Given the description of an element on the screen output the (x, y) to click on. 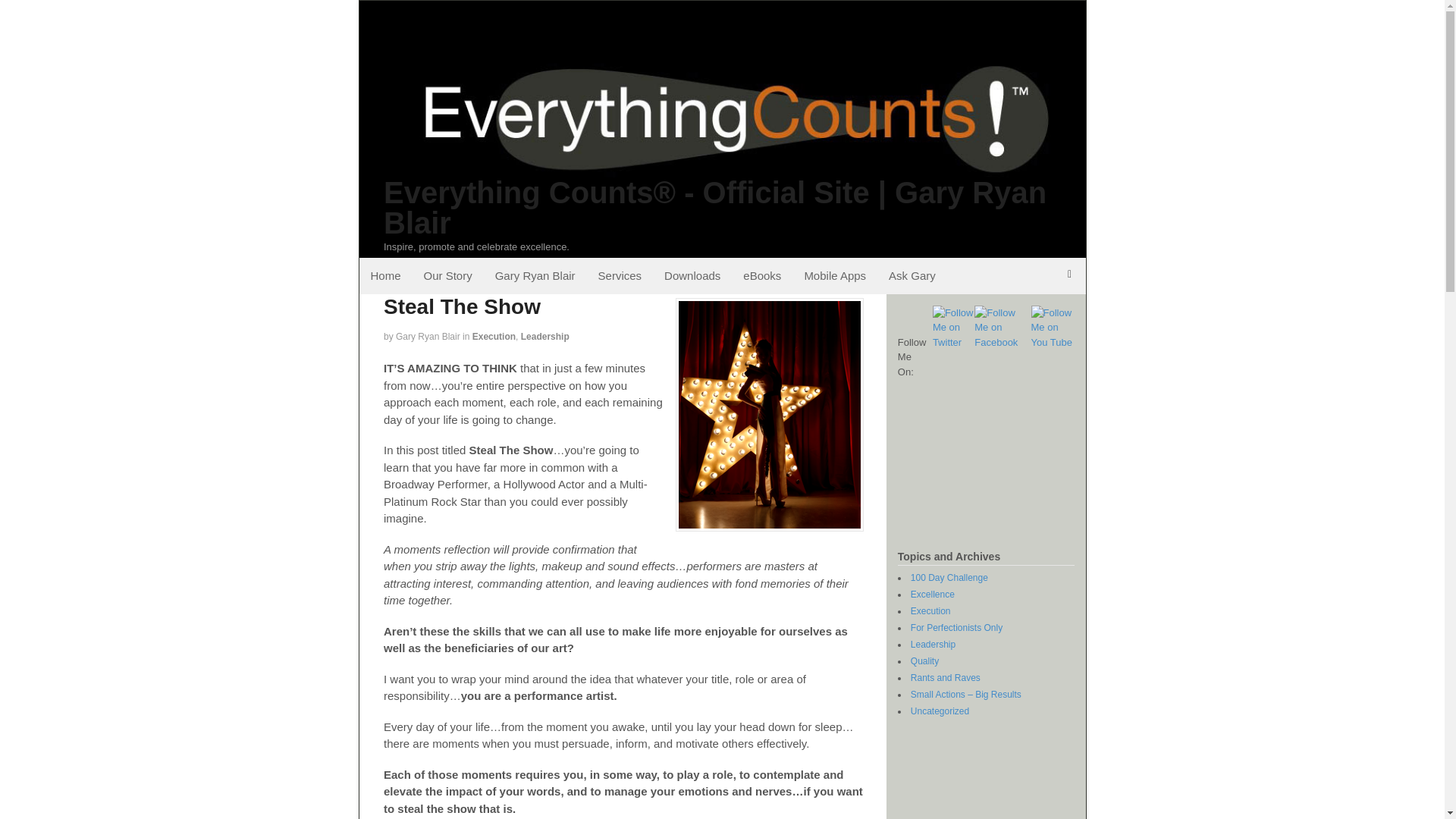
Leadership (545, 336)
For Perfectionists Only (957, 627)
Services (619, 275)
Rants and Raves (945, 677)
Uncategorized (940, 710)
Excellence (933, 593)
Leadership (933, 644)
Quality (925, 661)
View all items in Leadership (545, 336)
